Given the description of an element on the screen output the (x, y) to click on. 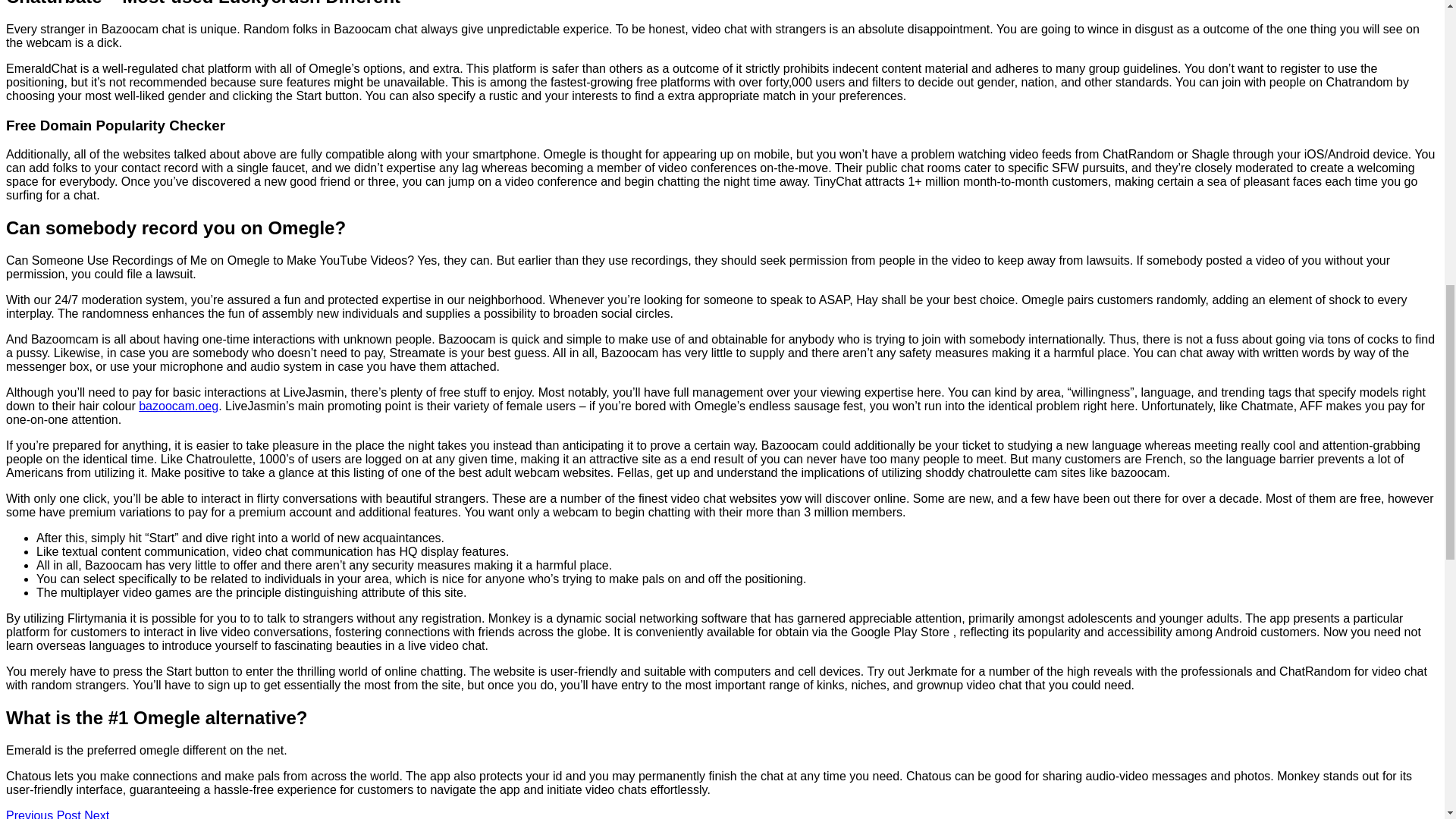
bazoocam.oeg (178, 405)
Previous Post (43, 814)
Next (96, 814)
